Given the description of an element on the screen output the (x, y) to click on. 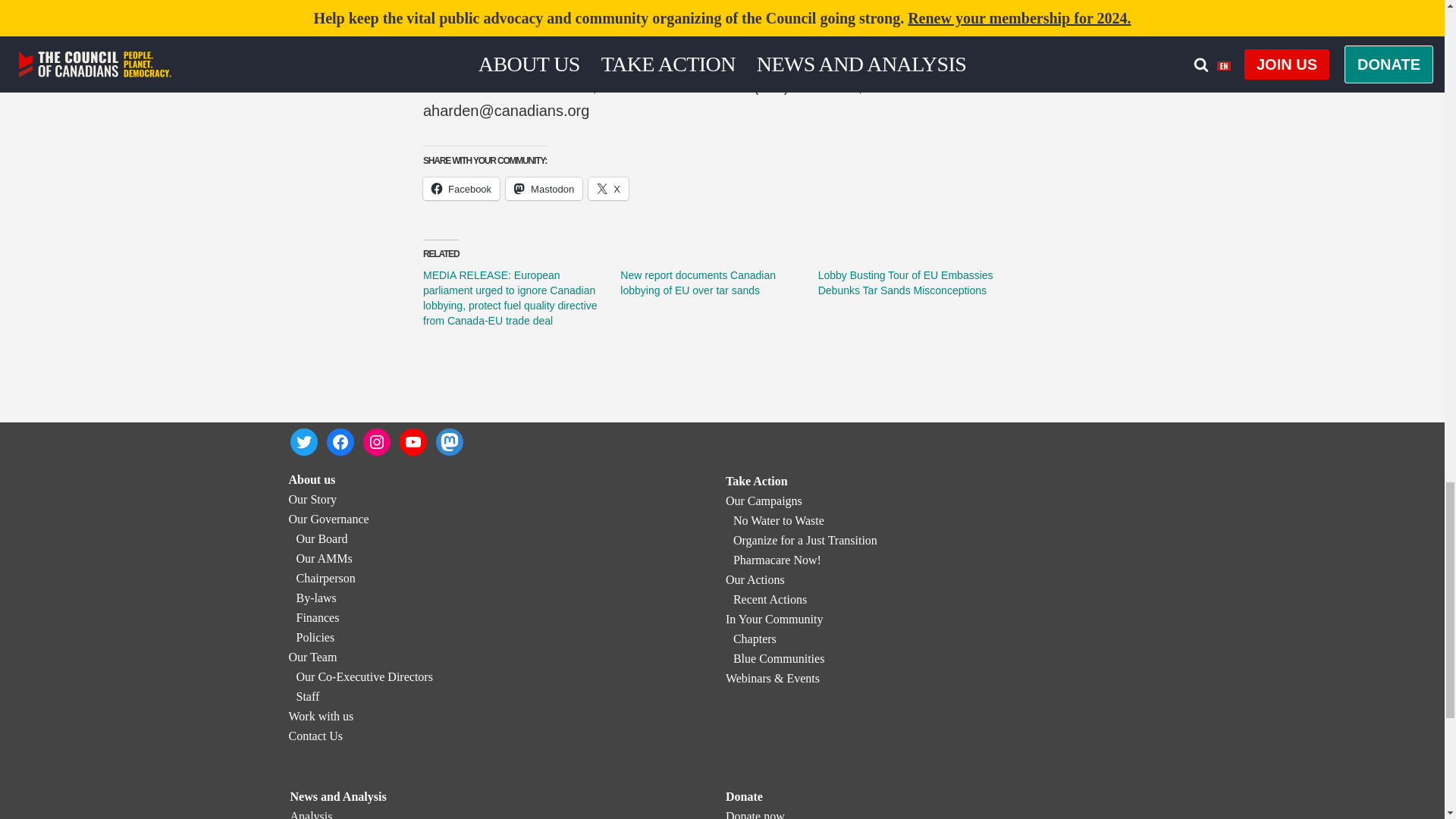
Our Story (312, 499)
New report documents Canadian lobbying of EU over tar sands (698, 282)
About us (311, 479)
Our AMMs (323, 558)
Our Board (321, 538)
X (608, 188)
Click to share on Facebook (461, 188)
Mastodon (543, 188)
Click to share on X (608, 188)
New report documents Canadian lobbying of EU over tar sands (698, 282)
Our Governance (328, 518)
